Given the description of an element on the screen output the (x, y) to click on. 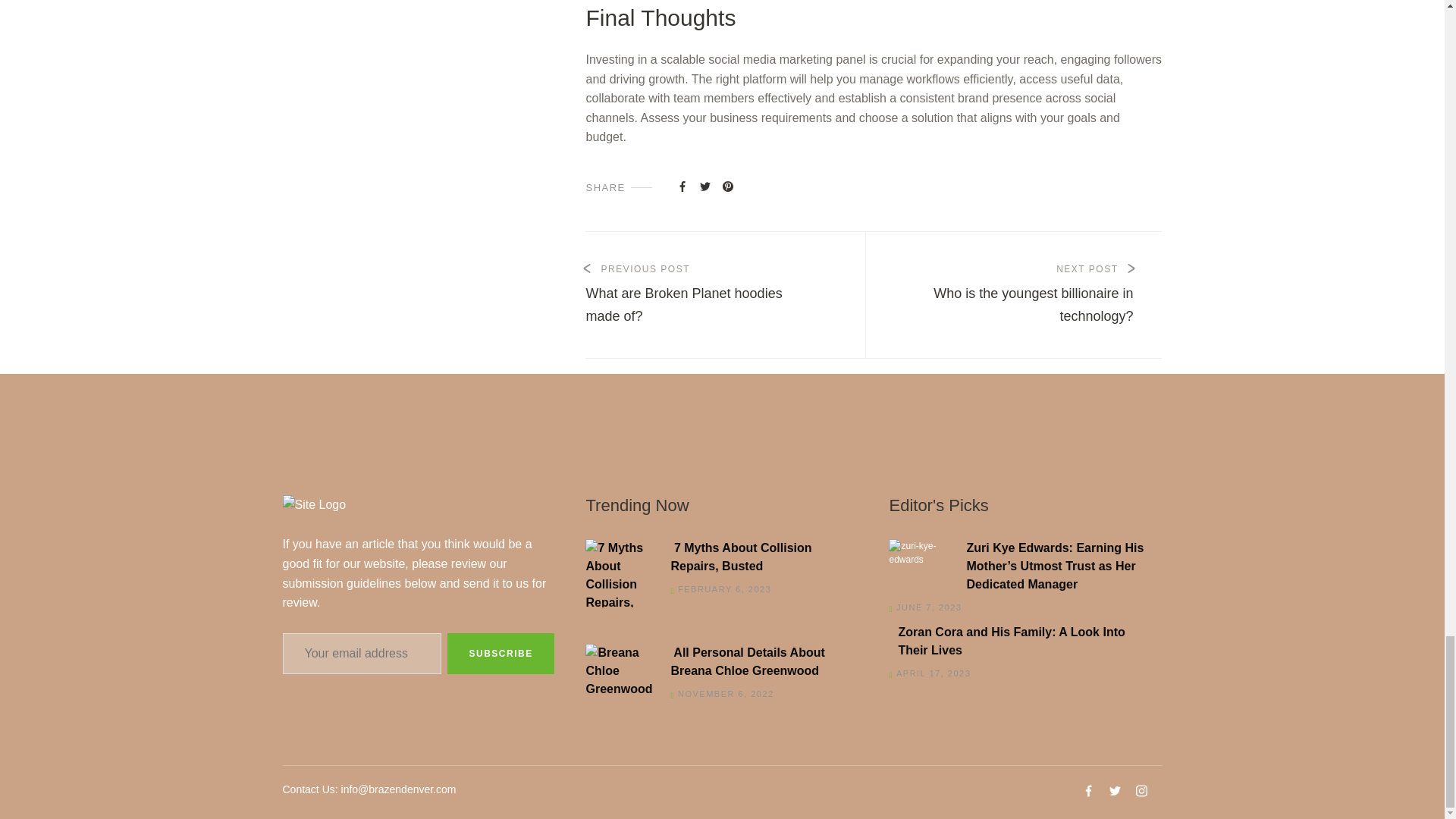
The Best Social Media Marketing Panel for Businesses (706, 294)
The Best Social Media Marketing Panel for Businesses (1024, 294)
The Best Social Media Marketing Panel for Businesses (682, 185)
